Given the description of an element on the screen output the (x, y) to click on. 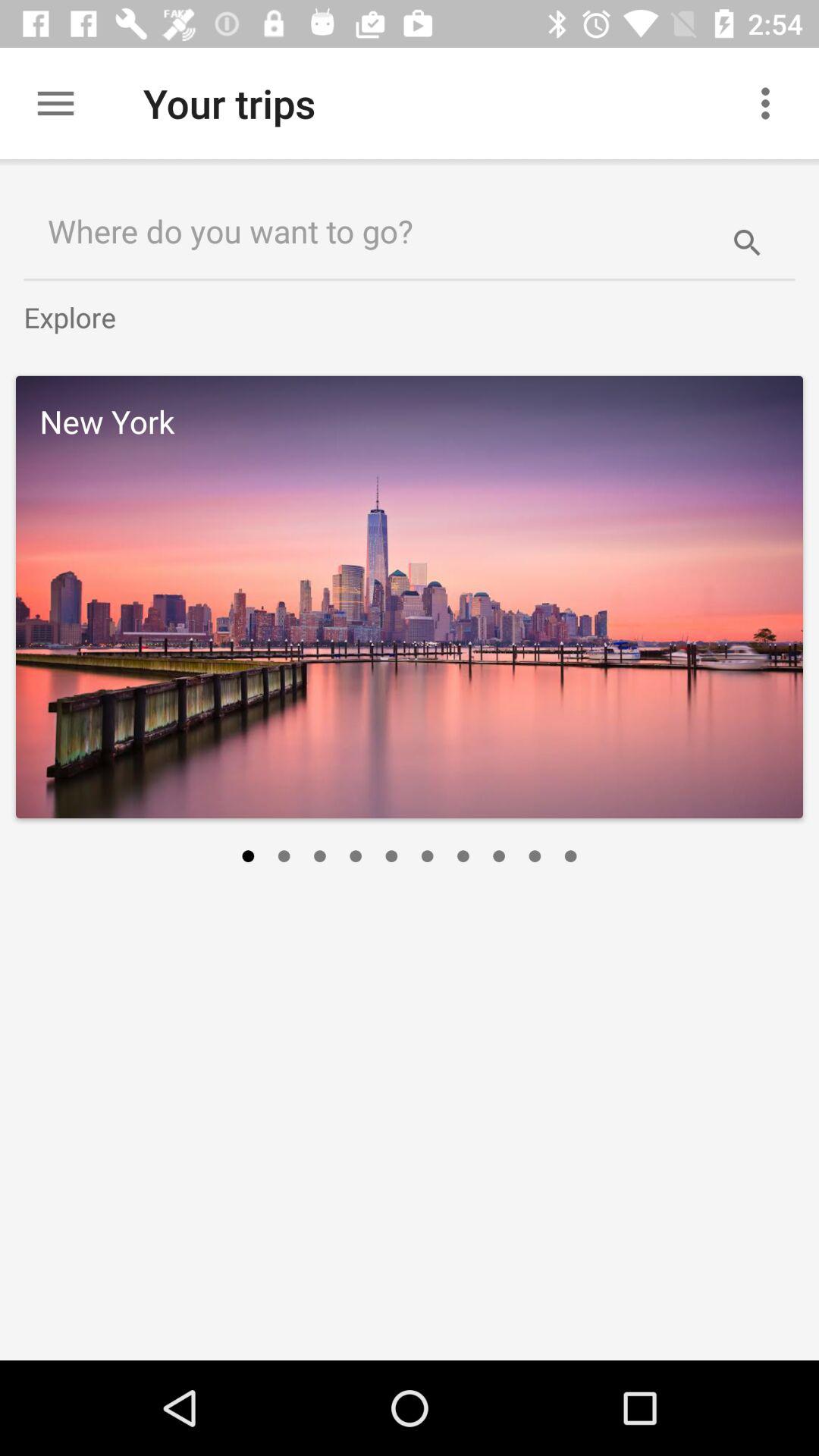
swipe until the where do you (361, 230)
